Given the description of an element on the screen output the (x, y) to click on. 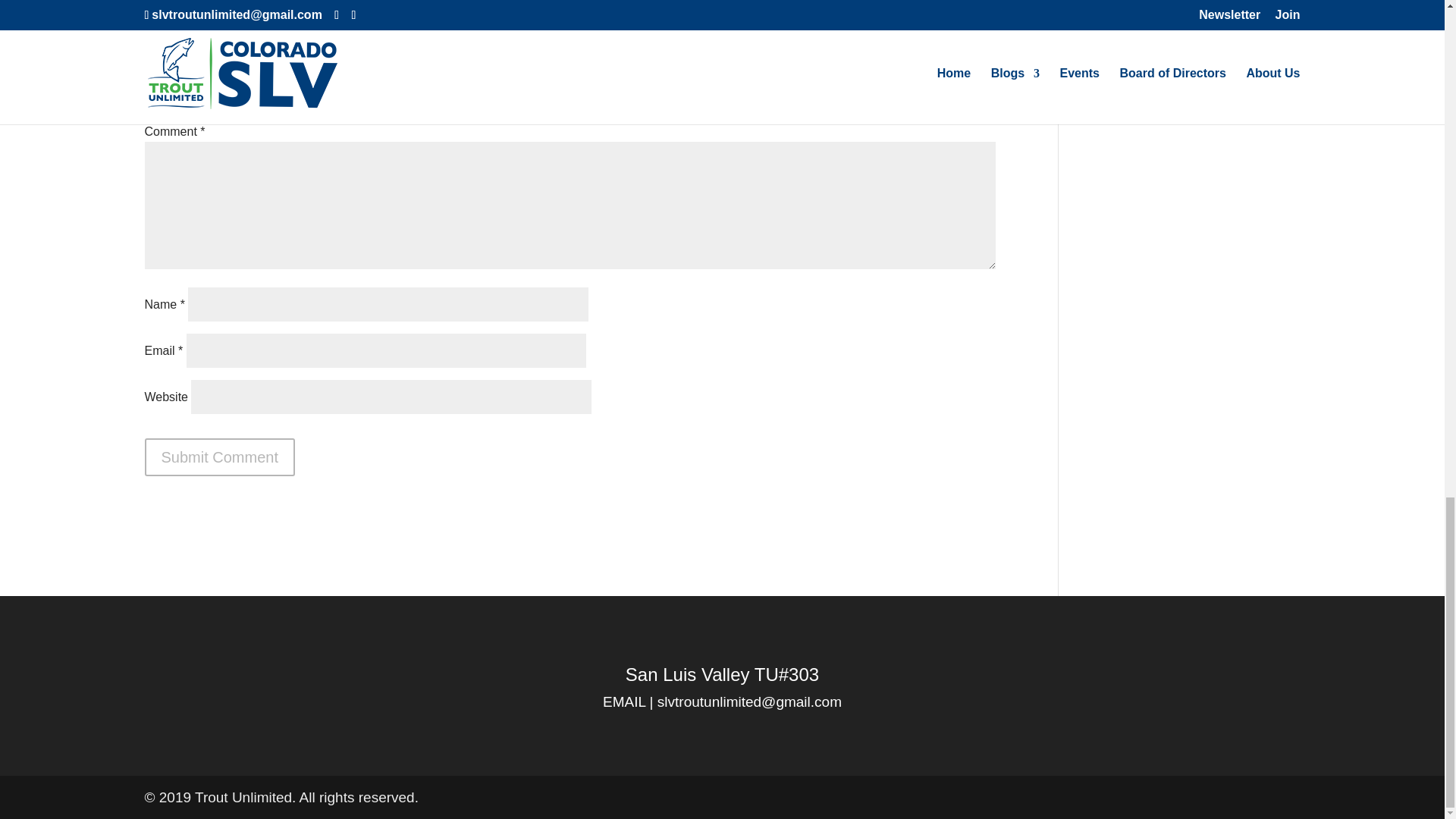
Submit Comment (219, 456)
Submit Comment (219, 456)
